Given the description of an element on the screen output the (x, y) to click on. 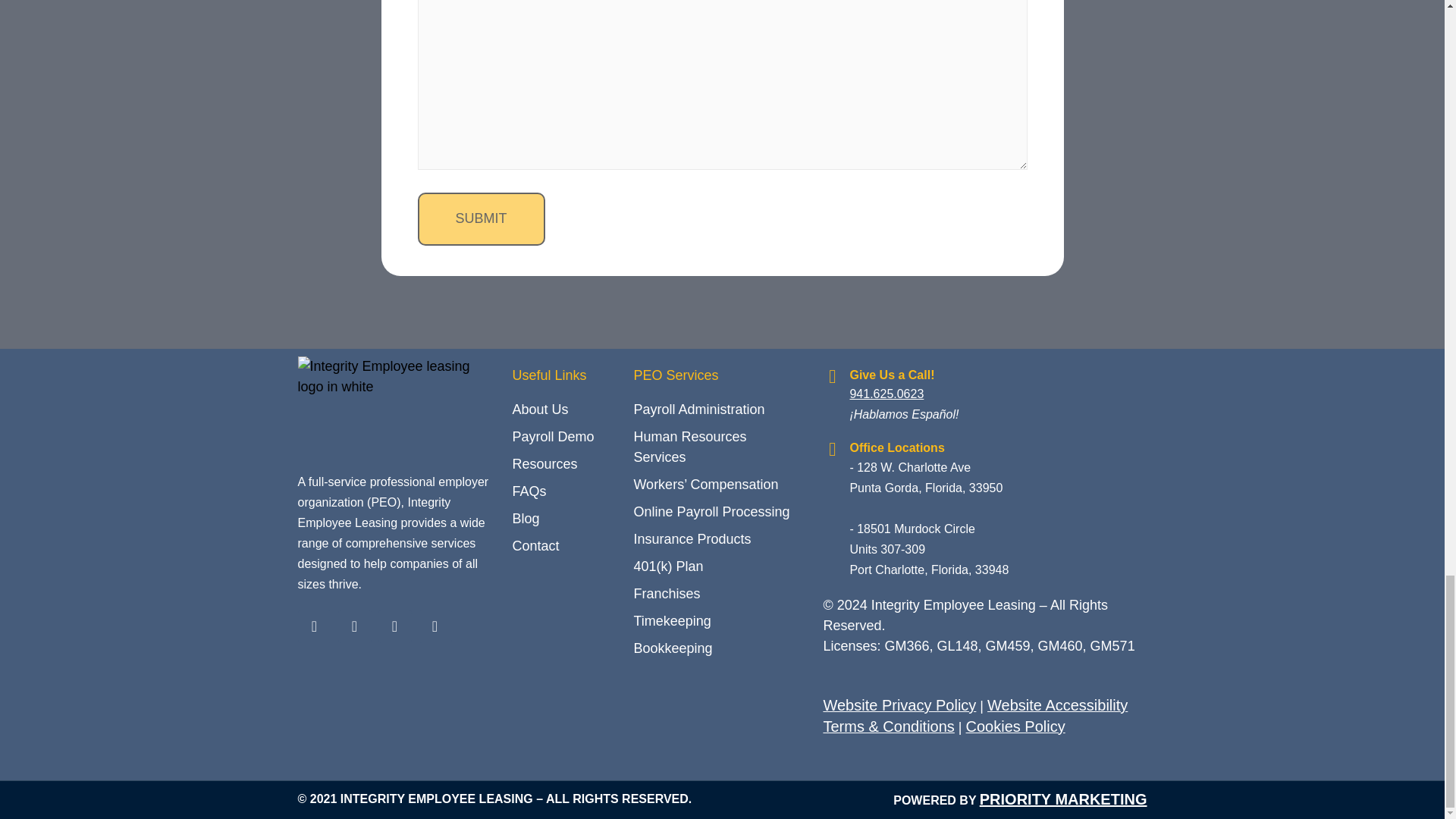
Submit (480, 218)
Facebook-f (313, 625)
Submit (480, 218)
Twitter (354, 625)
Linkedin (393, 625)
Instagram (435, 625)
